Given the description of an element on the screen output the (x, y) to click on. 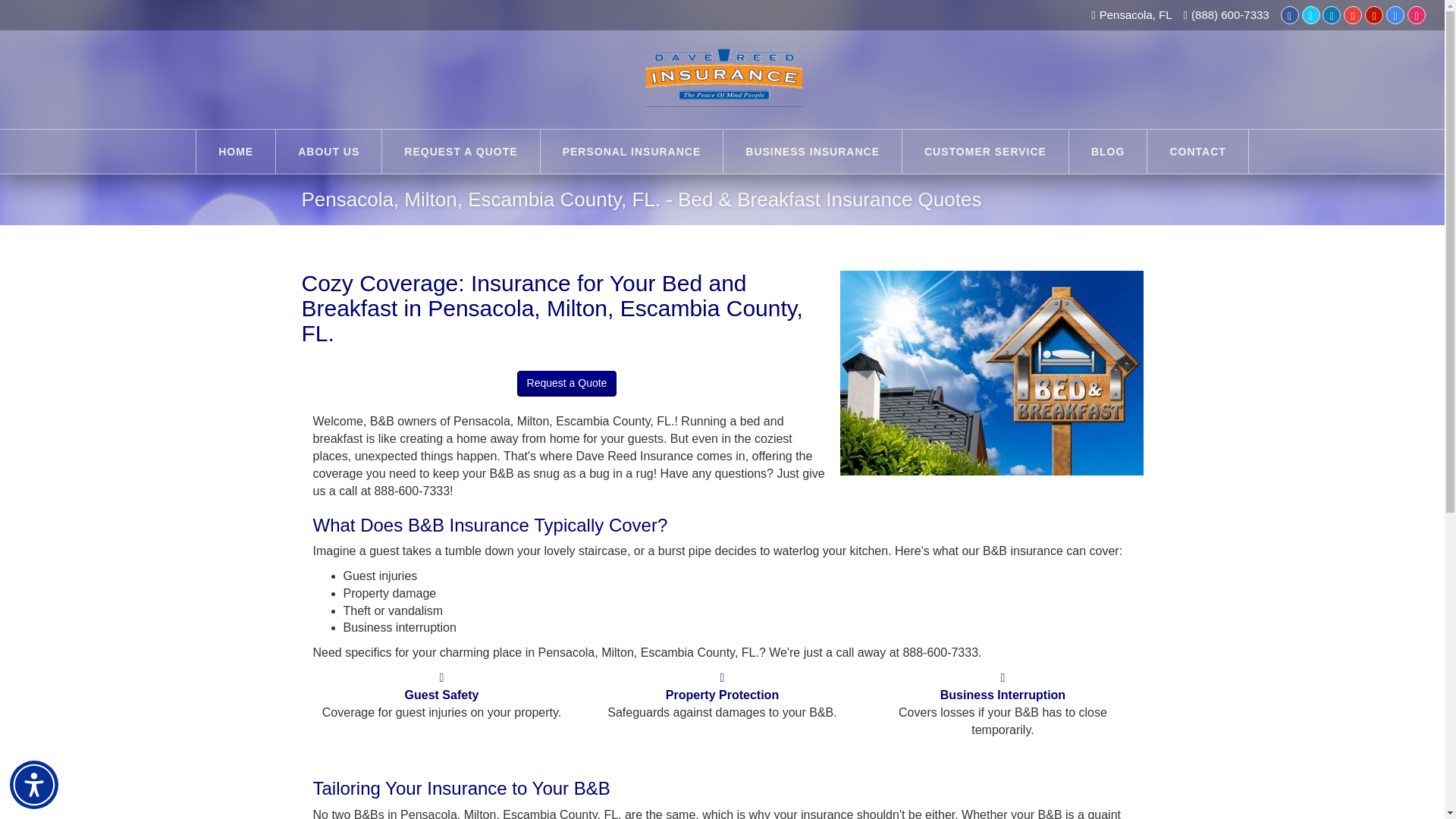
REQUEST A QUOTE (459, 151)
CONTACT (1197, 151)
CUSTOMER SERVICE (985, 151)
ABOUT US (328, 151)
Accessibility Menu (34, 784)
Request a Quote (566, 383)
PERSONAL INSURANCE (631, 151)
HOME (235, 151)
BUSINESS INSURANCE (812, 151)
BLOG (1107, 151)
